Given the description of an element on the screen output the (x, y) to click on. 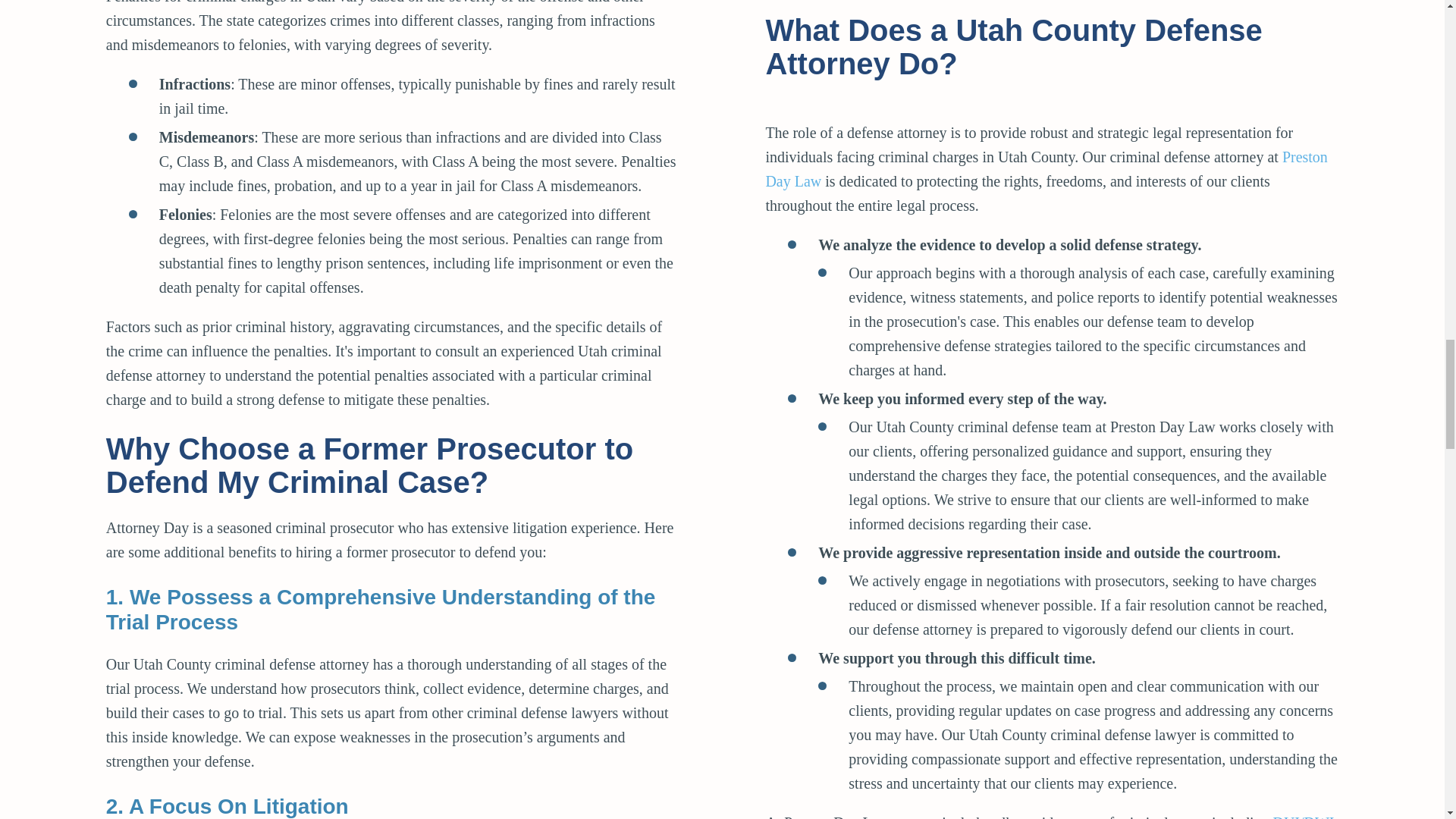
Preston Day Law (1045, 168)
